Given the description of an element on the screen output the (x, y) to click on. 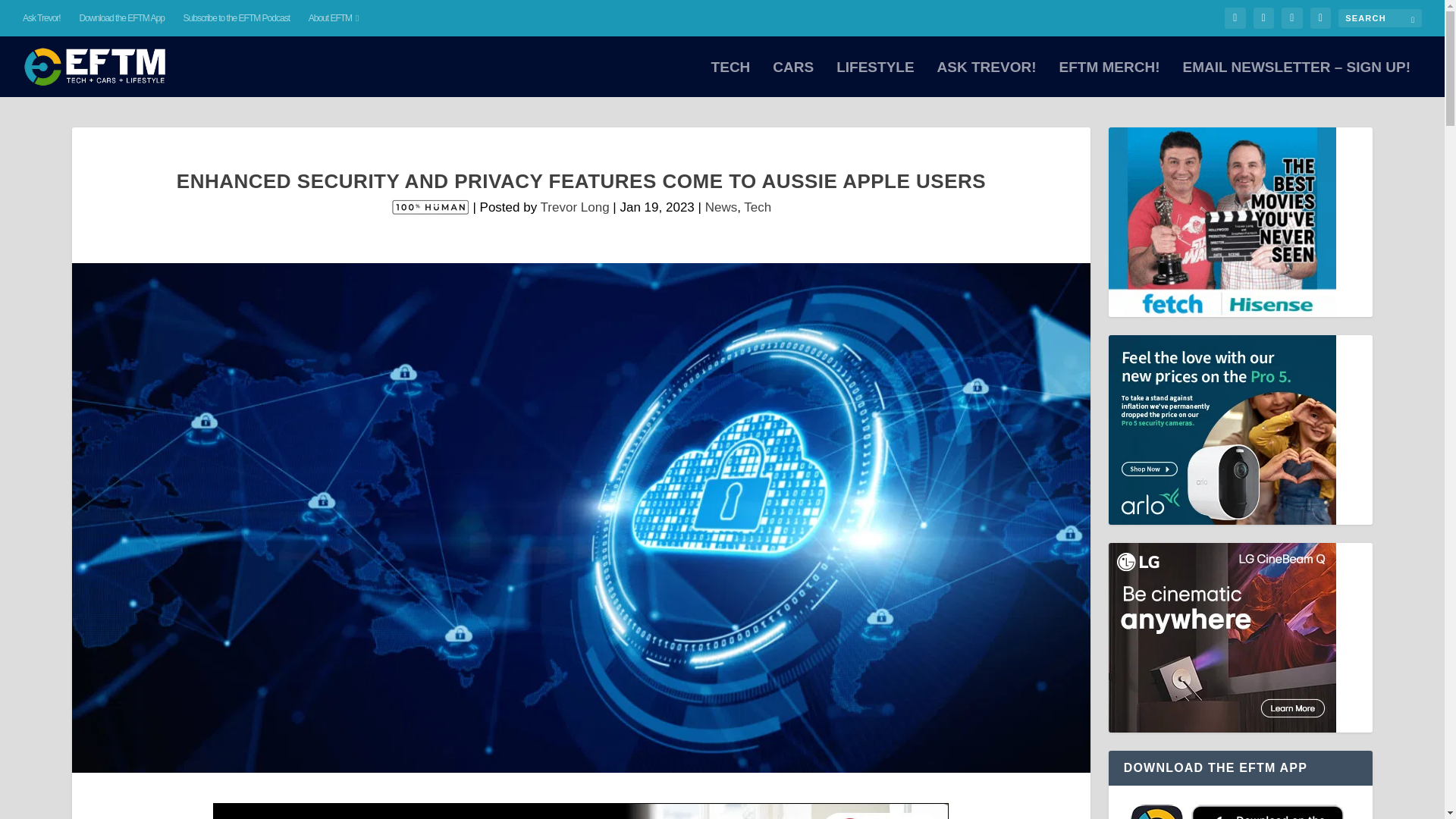
EFTM MERCH! (1108, 79)
Search for: (1380, 18)
LIFESTYLE (874, 79)
Download the EFTM App (120, 18)
Posts by Trevor Long (575, 206)
About EFTM (333, 18)
Subscribe to the EFTM Podcast (236, 18)
TECH (731, 79)
CARS (793, 79)
ASK TREVOR! (986, 79)
